Given the description of an element on the screen output the (x, y) to click on. 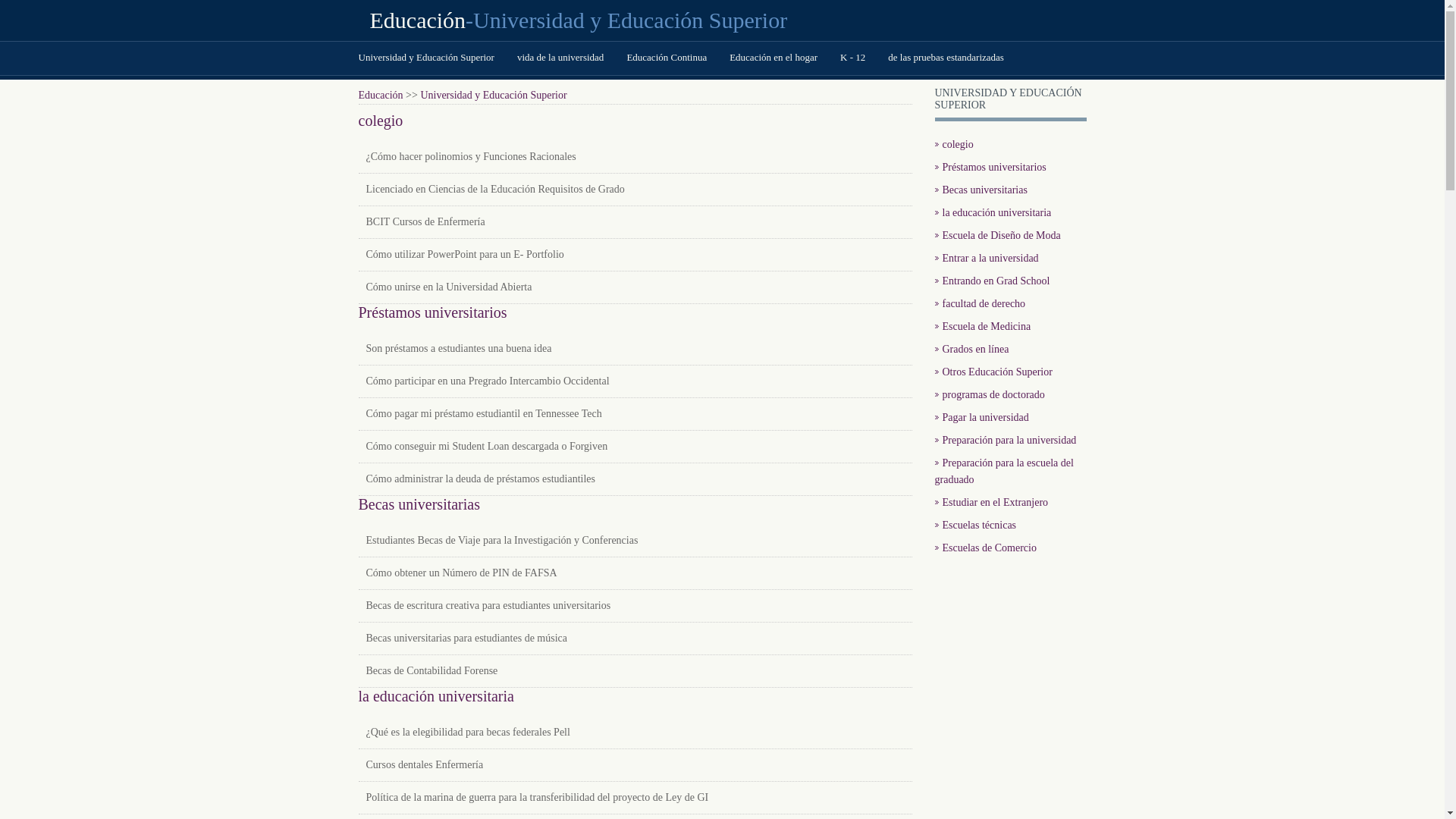
colegio Element type: text (953, 144)
Pagar la universidad Element type: text (981, 417)
K - 12 Element type: text (852, 57)
colegio Element type: text (379, 120)
vida de la universidad Element type: text (560, 57)
Becas de Contabilidad Forense Element type: text (431, 670)
Becas de escritura creativa para estudiantes universitarios Element type: text (487, 605)
Escuela de Medicina Element type: text (982, 326)
Escuelas de Comercio Element type: text (984, 547)
programas de doctorado Element type: text (989, 394)
de las pruebas estandarizadas Element type: text (946, 57)
Becas universitarias Element type: text (418, 503)
Becas universitarias Element type: text (980, 189)
Entrar a la universidad Element type: text (986, 257)
Entrando en Grad School Element type: text (991, 280)
facultad de derecho Element type: text (979, 303)
Estudiar en el Extranjero Element type: text (991, 502)
